Given the description of an element on the screen output the (x, y) to click on. 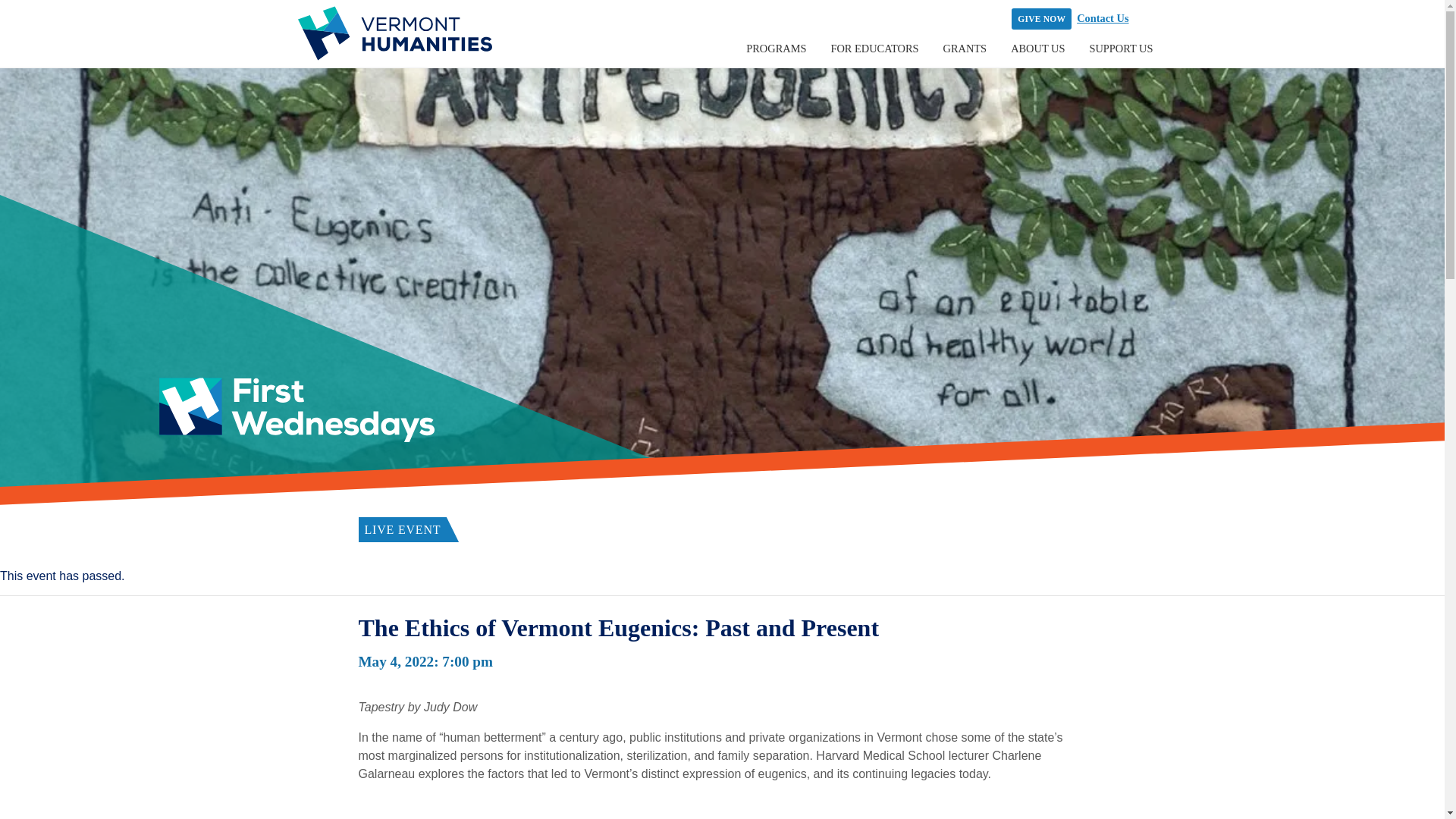
FOR EDUCATORS (874, 49)
GRANTS (964, 49)
PROGRAMS (775, 49)
